Given the description of an element on the screen output the (x, y) to click on. 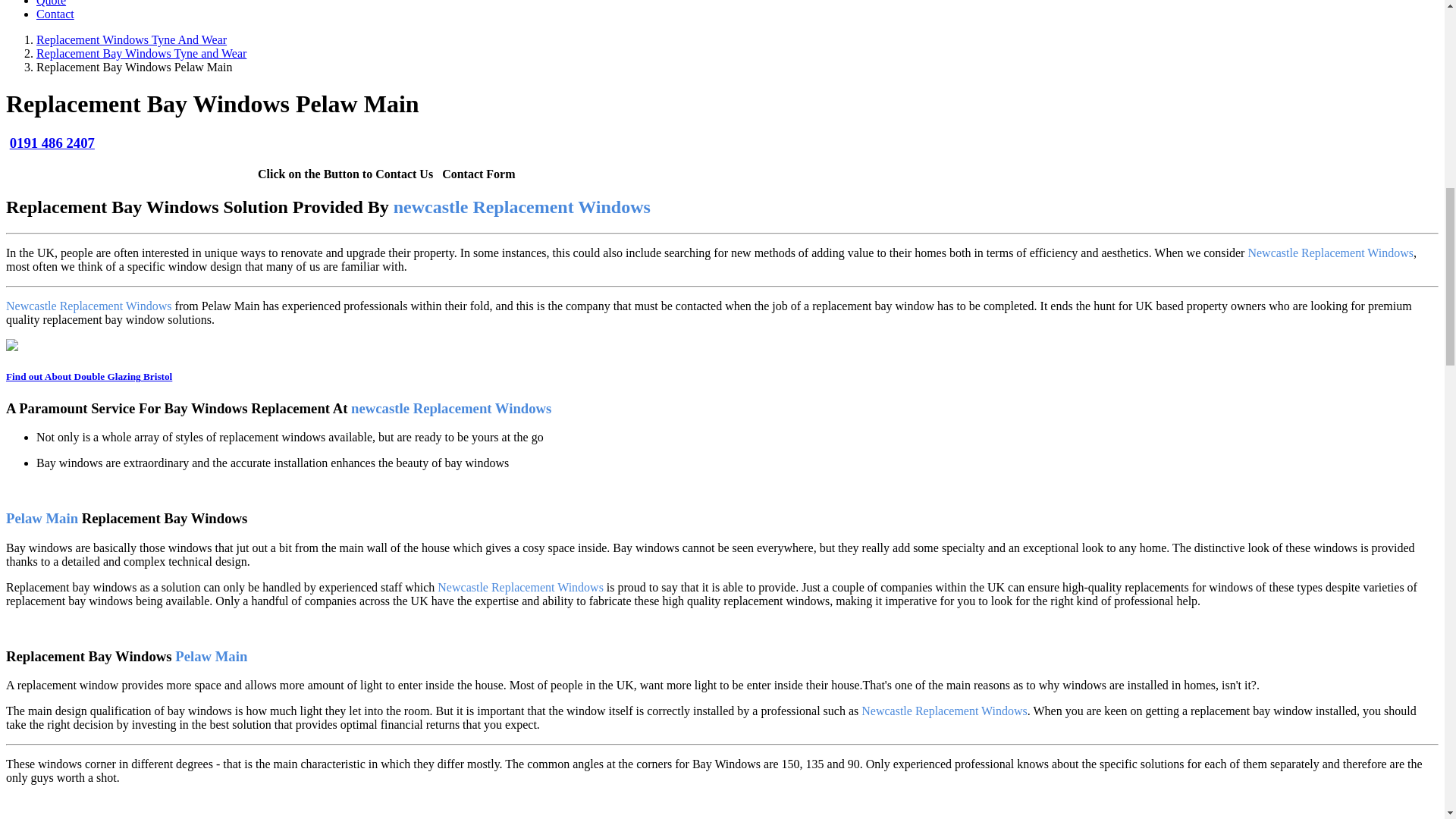
Replacement Windows Tyne And Wear (131, 39)
Contact (55, 13)
Replacement Bay Windows Tyne and Wear (141, 52)
Quote (50, 3)
0191 486 2407 (52, 142)
